Given the description of an element on the screen output the (x, y) to click on. 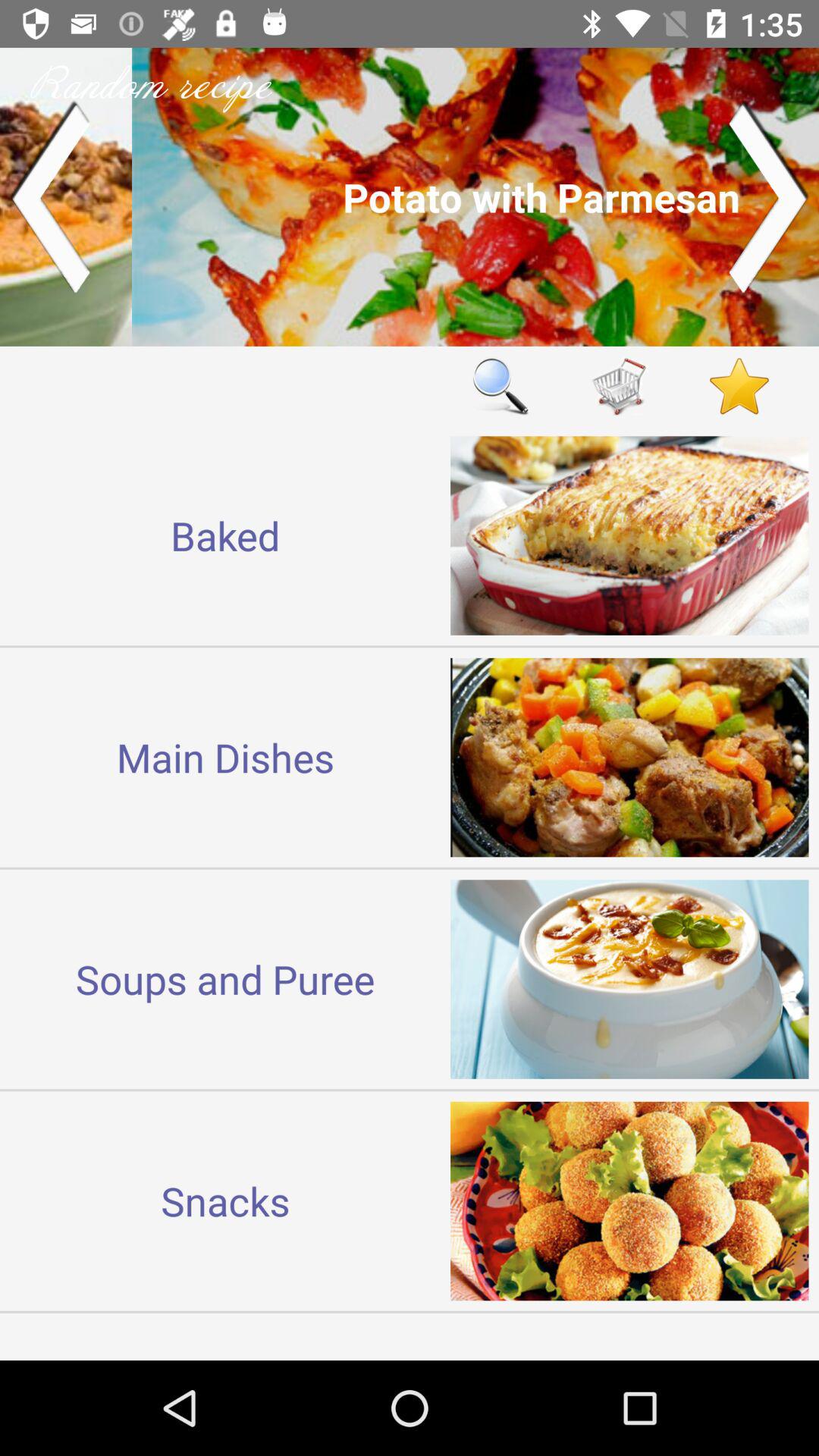
select item above soups and puree item (225, 756)
